Given the description of an element on the screen output the (x, y) to click on. 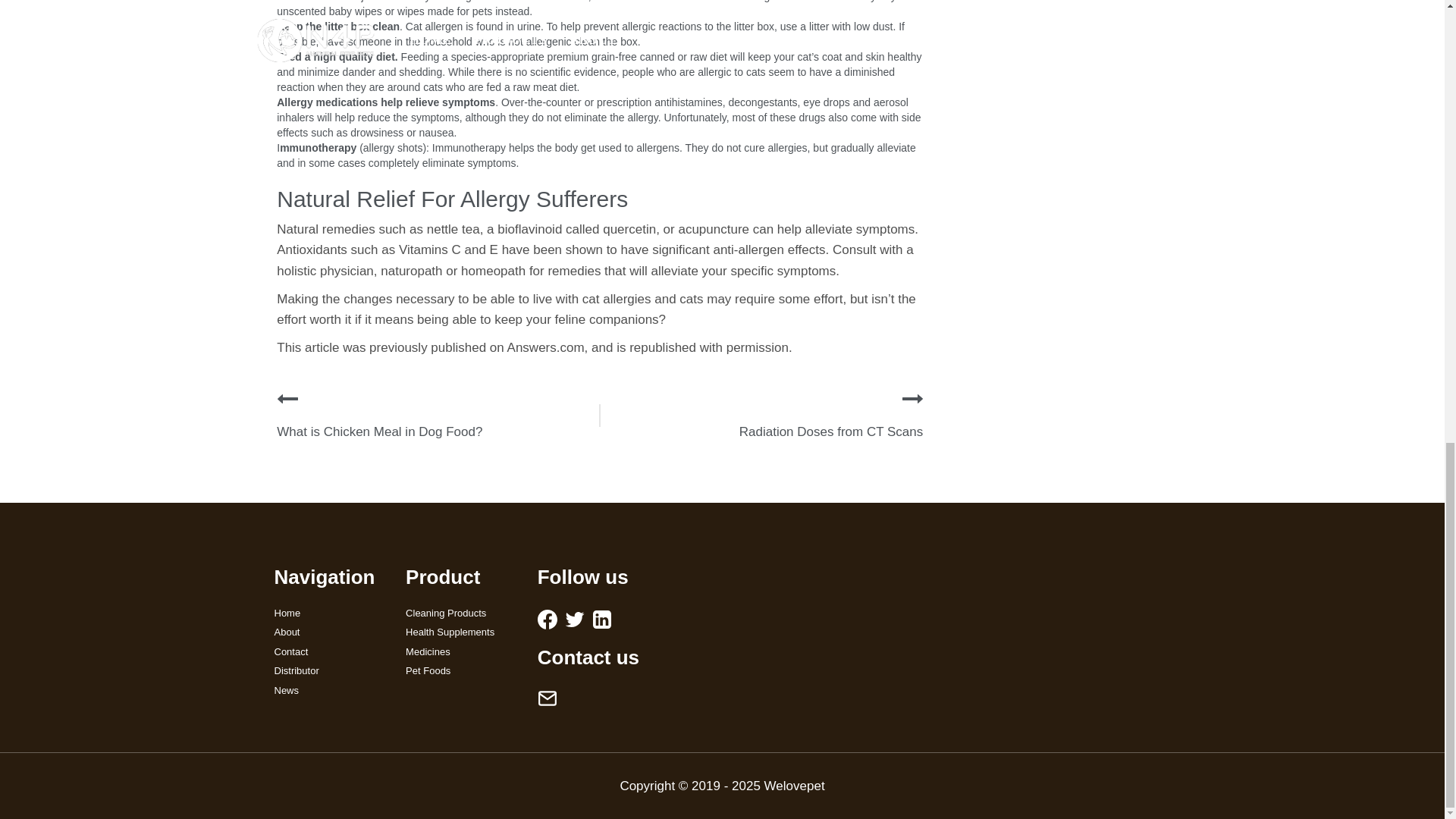
Linkedin (601, 619)
Home (329, 613)
What is Chicken Meal in Dog Food? (378, 431)
Twitter (574, 619)
previous article (287, 398)
Radiation Doses from CT Scans (831, 431)
next article (912, 398)
